Given the description of an element on the screen output the (x, y) to click on. 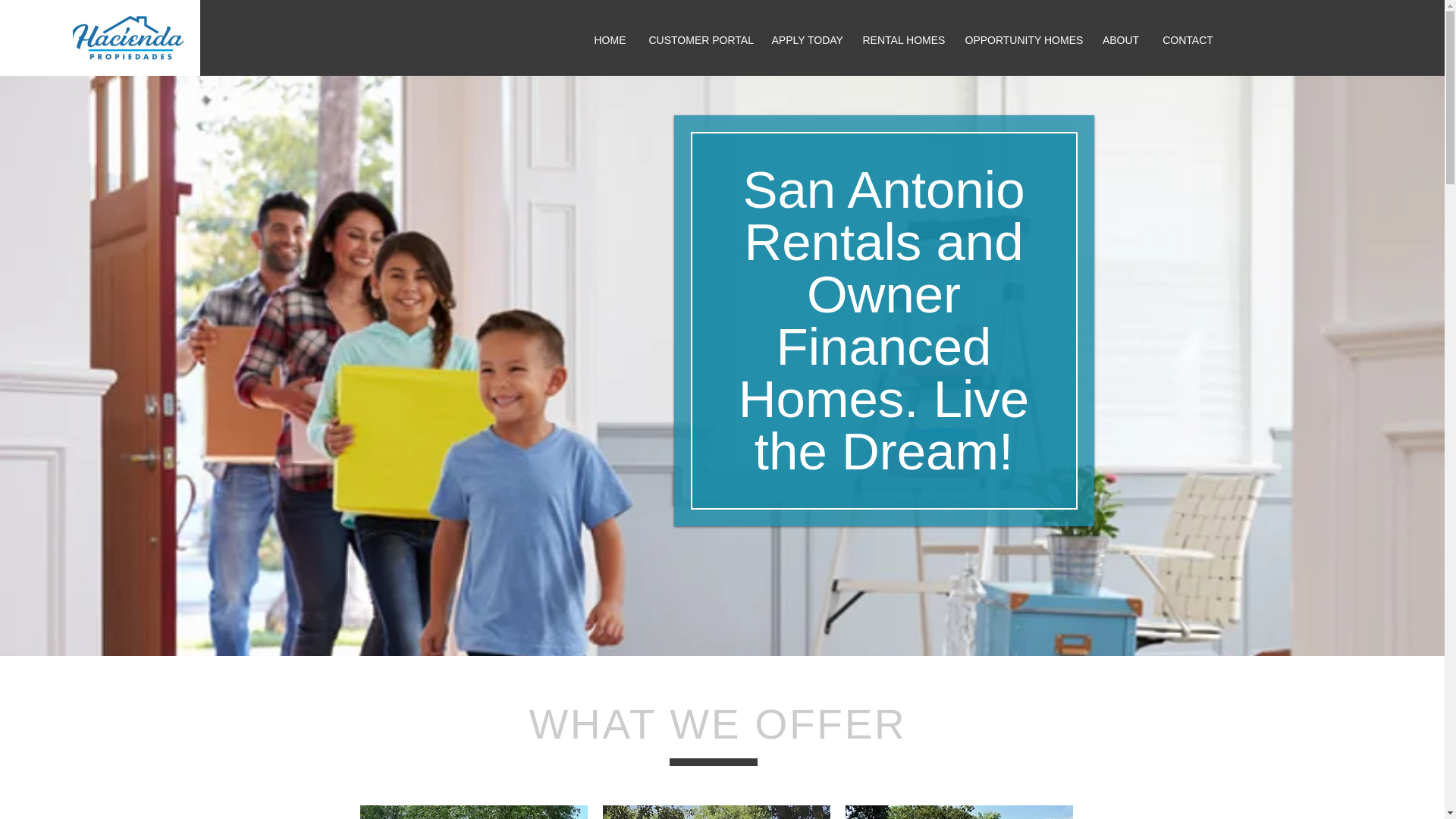
HOME (609, 40)
RENTAL HOMES (901, 40)
APPLY TODAY (805, 40)
CUSTOMER PORTAL (698, 40)
ABOUT (1120, 40)
OPPORTUNITY HOMES (1021, 40)
CONTACT (1188, 40)
